Given the description of an element on the screen output the (x, y) to click on. 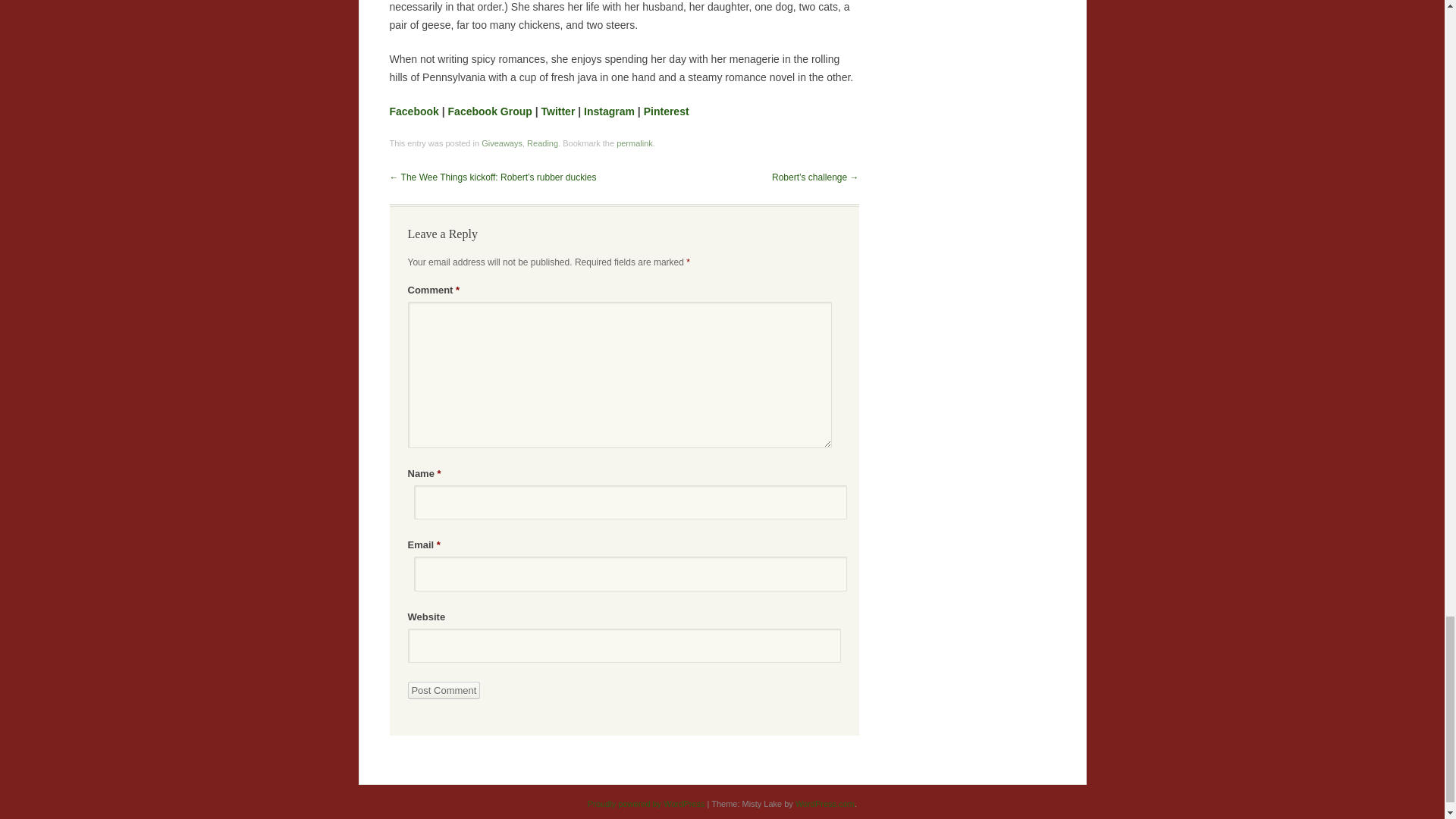
Post Comment (443, 690)
permalink (633, 143)
Pinterest (665, 111)
Instagram (608, 111)
Reading (542, 143)
Post Comment (443, 690)
A Semantic Personal Publishing Platform (646, 803)
Twitter (558, 111)
Facebook Group (490, 111)
Giveaways (501, 143)
Permalink to Guest post by RJ Scott and VL Locey (633, 143)
Facebook (414, 111)
